Given the description of an element on the screen output the (x, y) to click on. 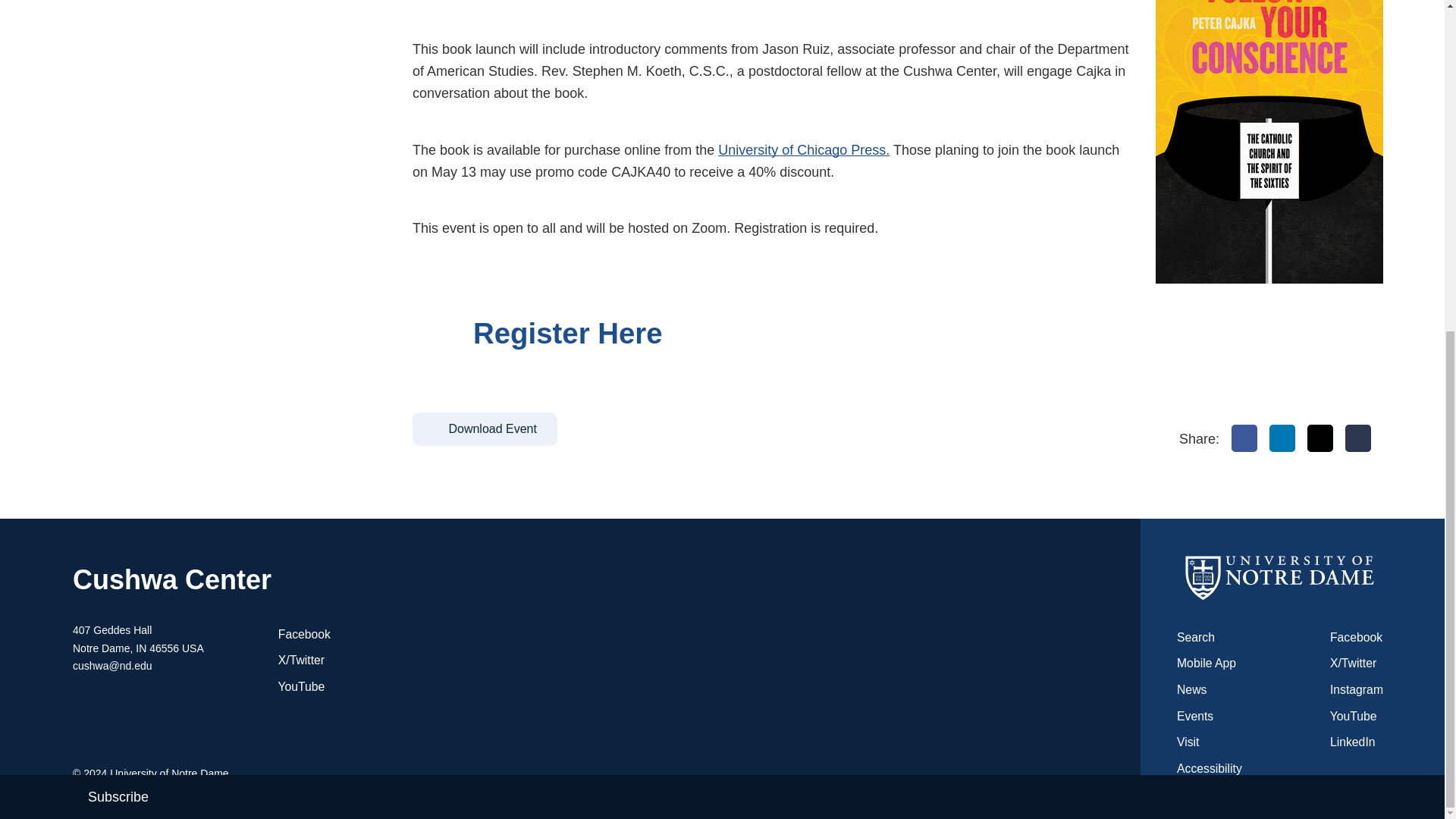
Facebook (1244, 438)
Email (1358, 438)
University of Chicago Press. (803, 150)
Download Event (484, 428)
Register Here (584, 332)
LinkedIn (1282, 438)
